Given the description of an element on the screen output the (x, y) to click on. 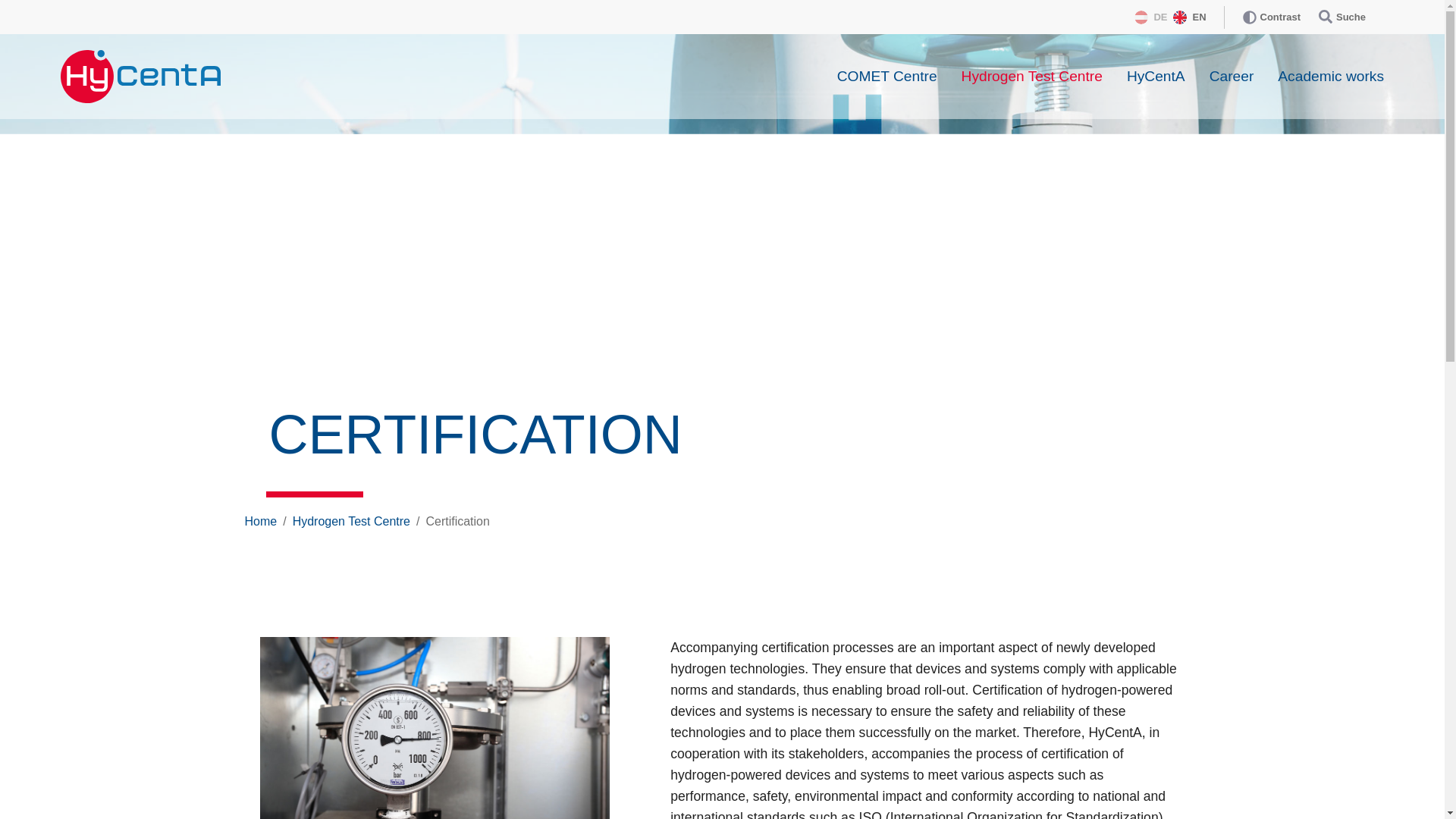
Hydrogen Test Centre (1032, 76)
Suchen (1342, 17)
HyCentA (1155, 76)
EN (1189, 16)
HyCentA (1155, 76)
Hydrogen Test Centre (351, 521)
Home (260, 521)
Suche (1342, 17)
Academic works (1330, 76)
Deutsch (1150, 16)
